Given the description of an element on the screen output the (x, y) to click on. 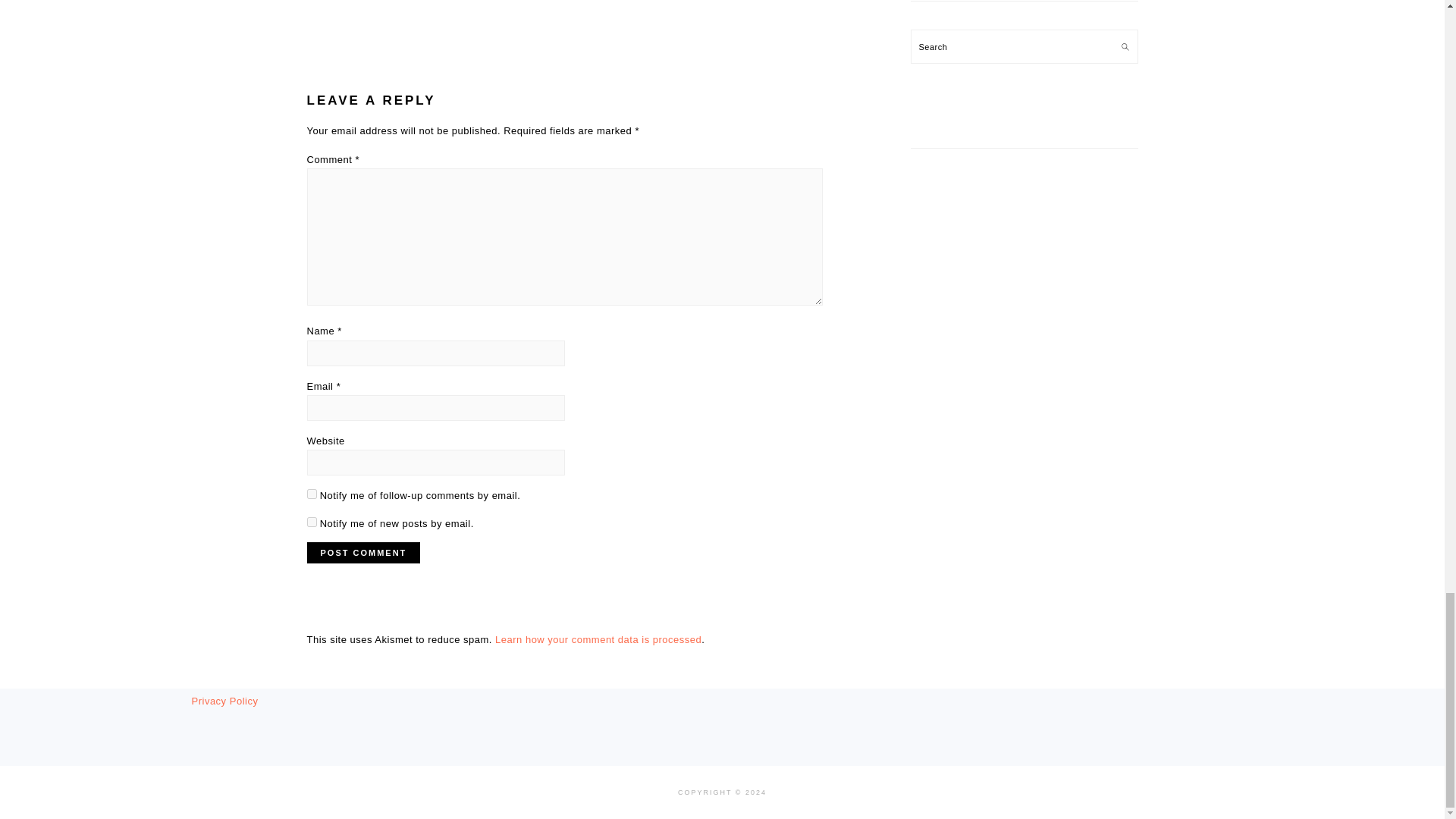
subscribe (310, 521)
subscribe (310, 493)
Post Comment (362, 552)
